Given the description of an element on the screen output the (x, y) to click on. 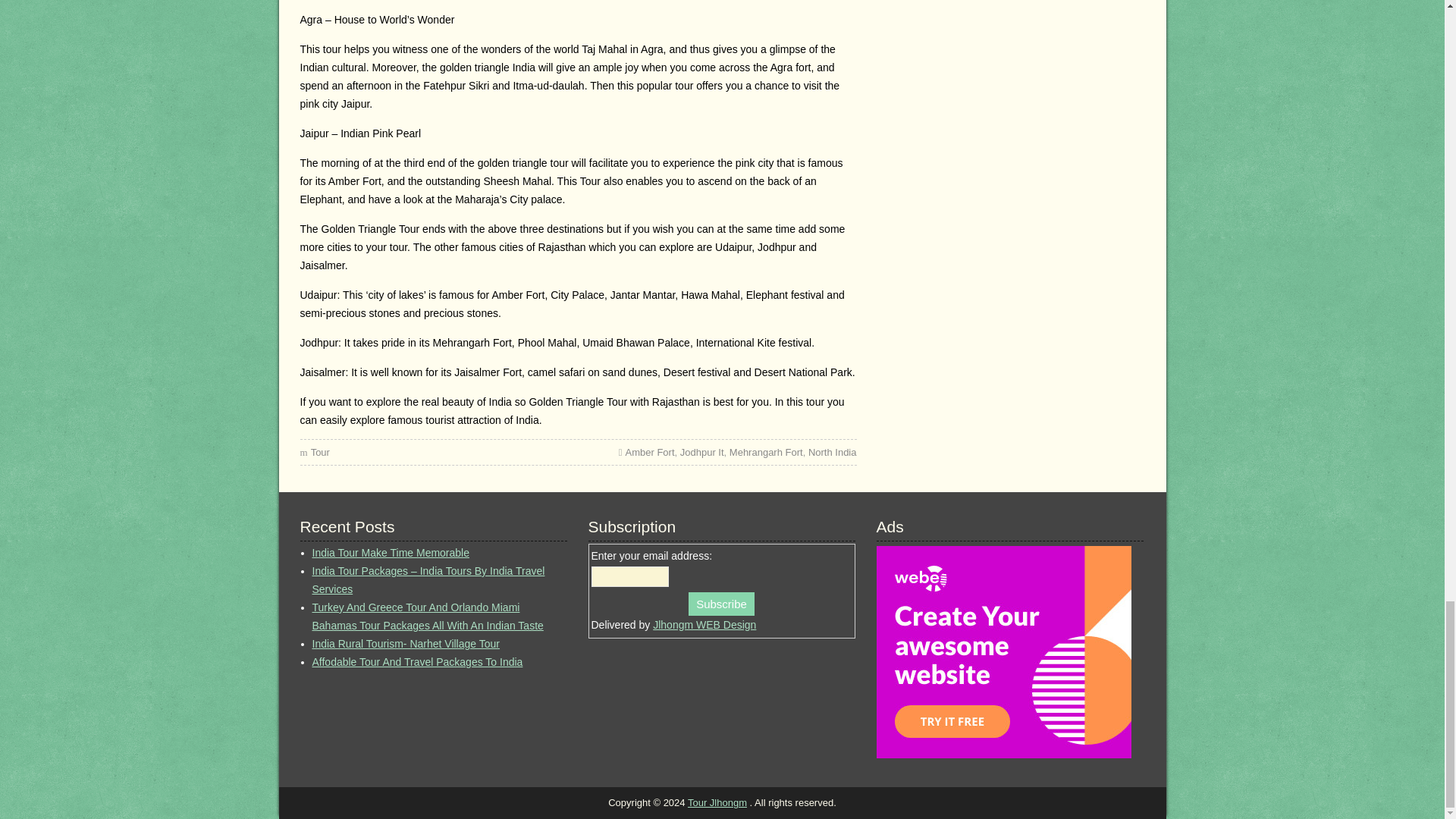
Subscribe (721, 603)
Amber Fort (650, 451)
Tour (320, 451)
Jodhpur It (701, 451)
Mehrangarh Fort (766, 451)
North India (832, 451)
